Given the description of an element on the screen output the (x, y) to click on. 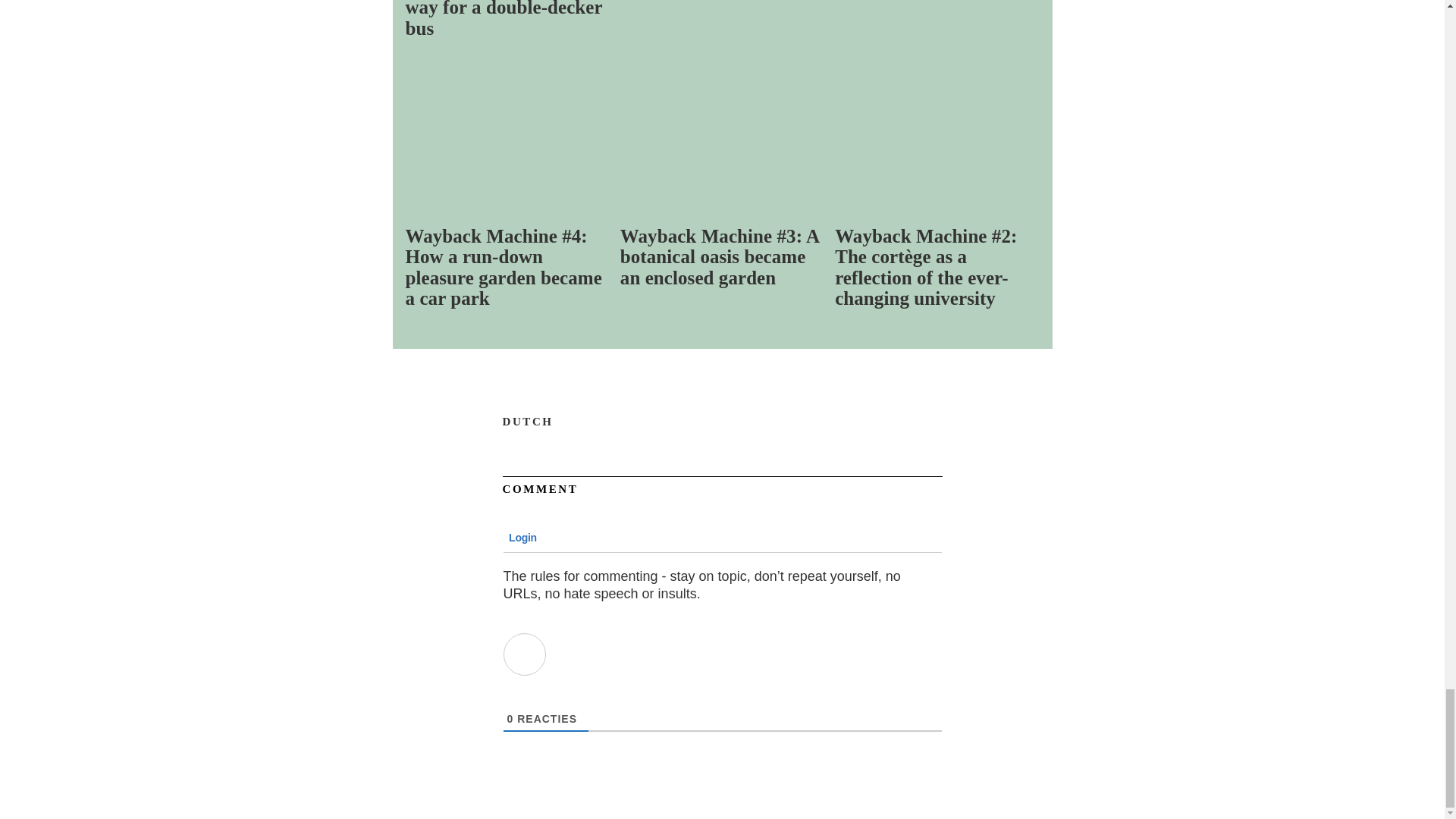
Login (521, 537)
Dutch (527, 420)
